Given the description of an element on the screen output the (x, y) to click on. 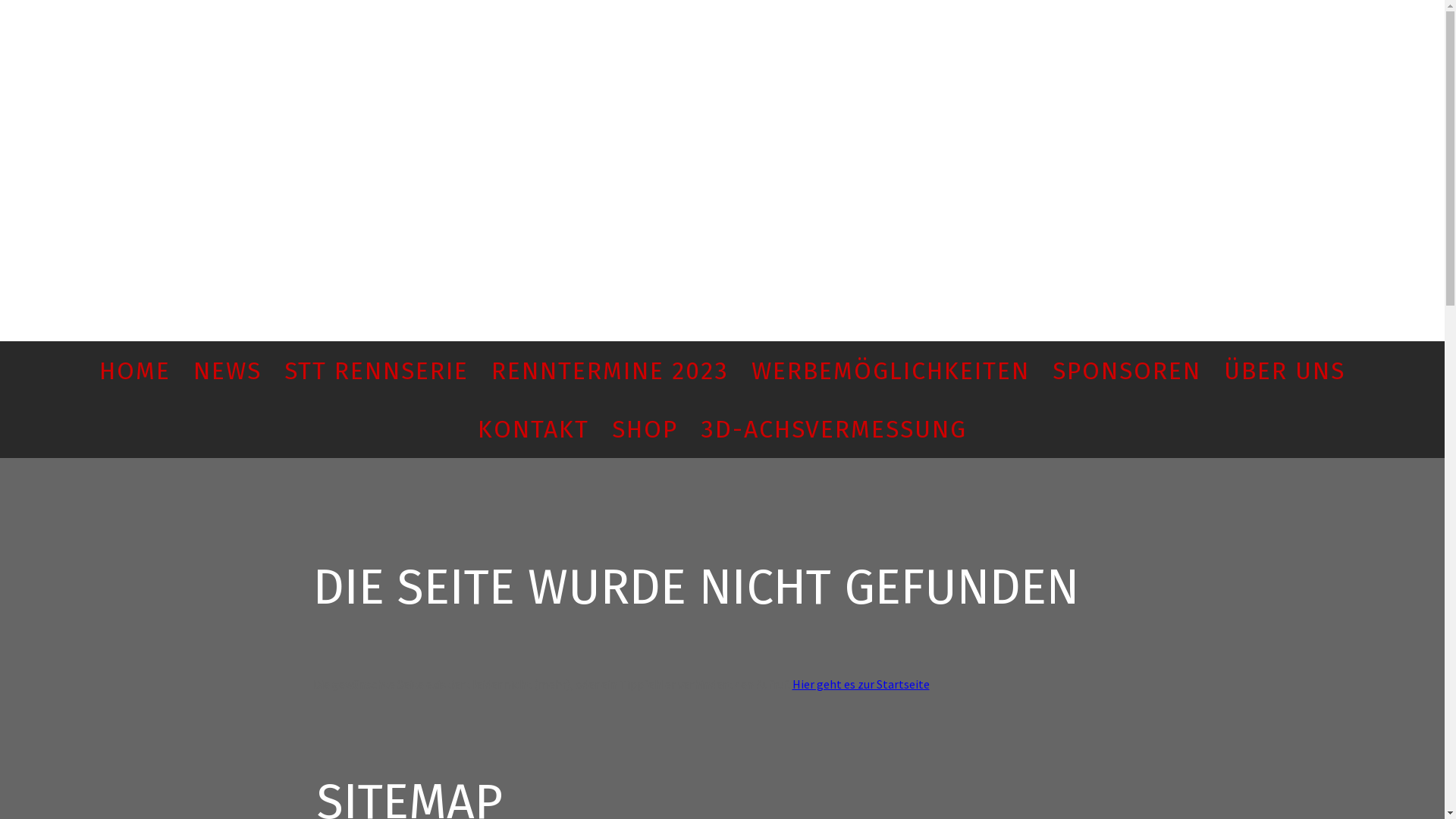
Hier geht es zur Startseite Element type: text (859, 683)
HOME Element type: text (134, 370)
RENNTERMINE 2023 Element type: text (610, 370)
3D-ACHSVERMESSUNG Element type: text (833, 428)
SPONSOREN Element type: text (1126, 370)
KONTAKT Element type: text (533, 428)
NEWS Element type: text (227, 370)
SHOP Element type: text (644, 428)
STT RENNSERIE Element type: text (376, 370)
